Given the description of an element on the screen output the (x, y) to click on. 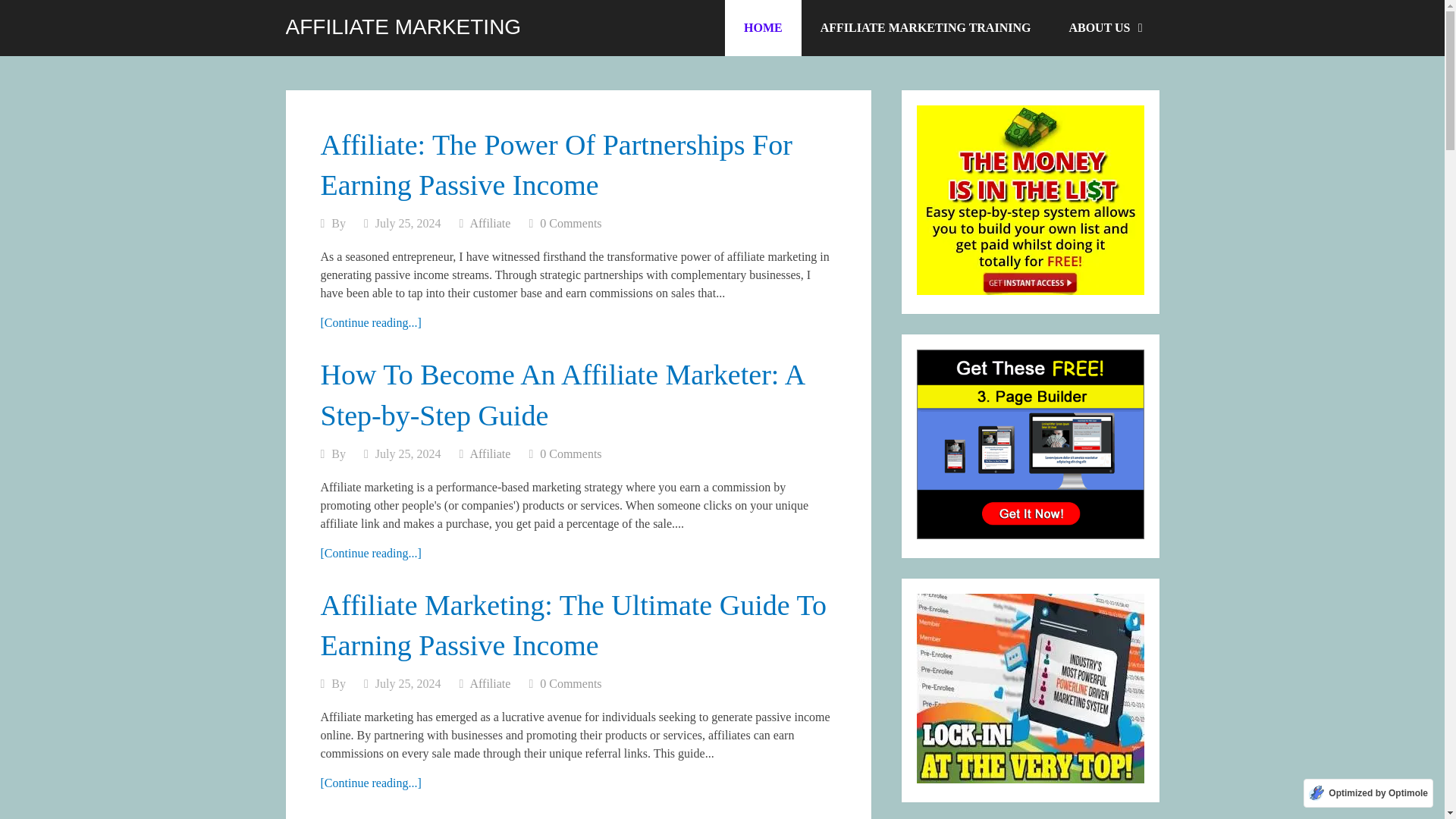
AFFILIATE MARKETING (403, 26)
AFFILIATE MARKETING TRAINING (925, 28)
How To Become An Affiliate Marketer: A Step-by-Step Guide (370, 553)
ABOUT US (1103, 28)
0 Comments (570, 453)
0 Comments (570, 223)
How To Become An Affiliate Marketer: A Step-by-Step Guide (561, 394)
0 Comments (570, 683)
How To Become An Affiliate Marketer: A Step-by-Step Guide (561, 394)
HOME (763, 28)
